Given the description of an element on the screen output the (x, y) to click on. 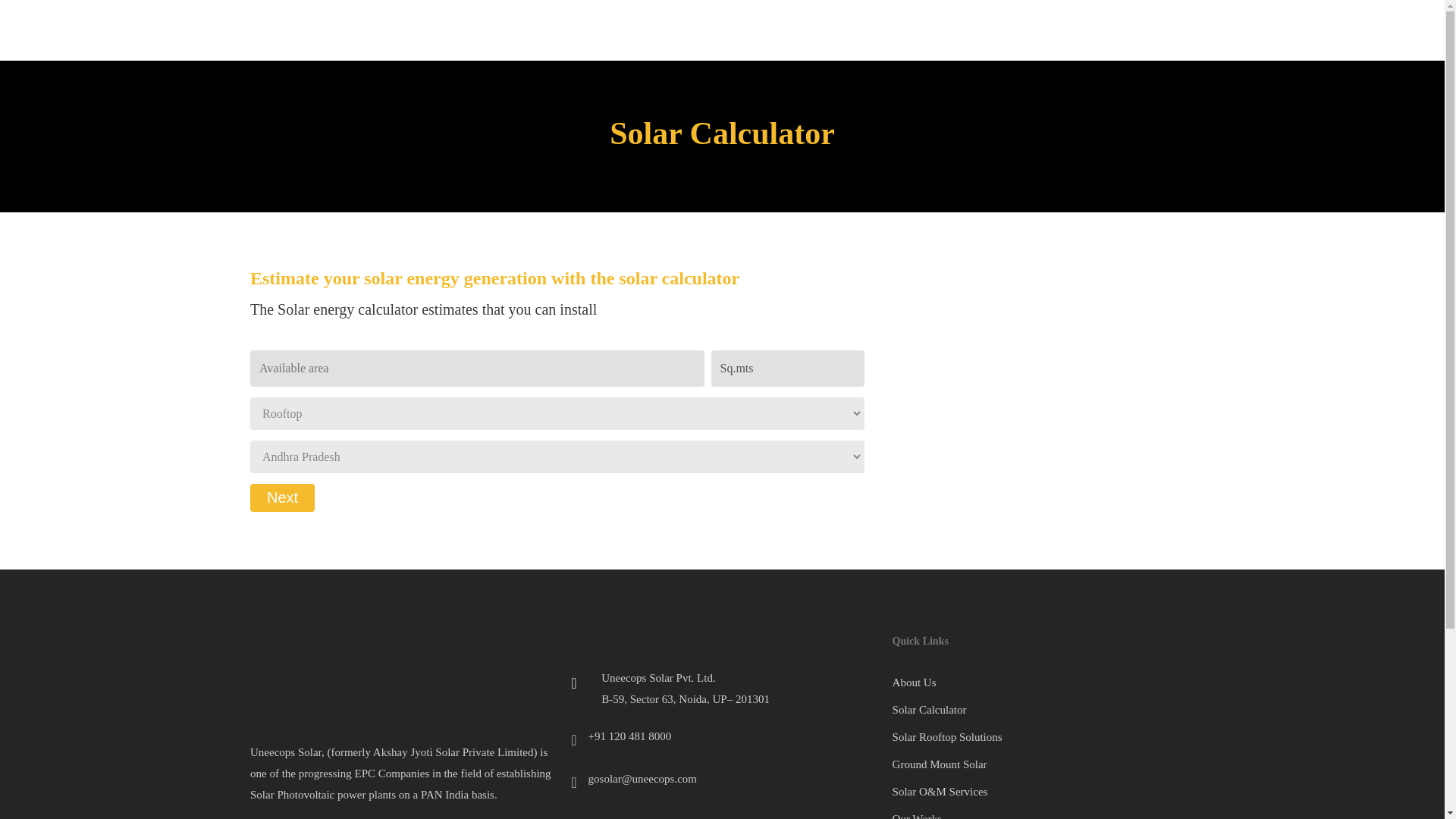
Solar Rooftop Solutions (1042, 736)
Our Works (1042, 813)
About Us (1042, 681)
Sq.mts (787, 368)
Solar Calculator (1042, 709)
Next (282, 497)
Ground Mount Solar (1042, 763)
